Given the description of an element on the screen output the (x, y) to click on. 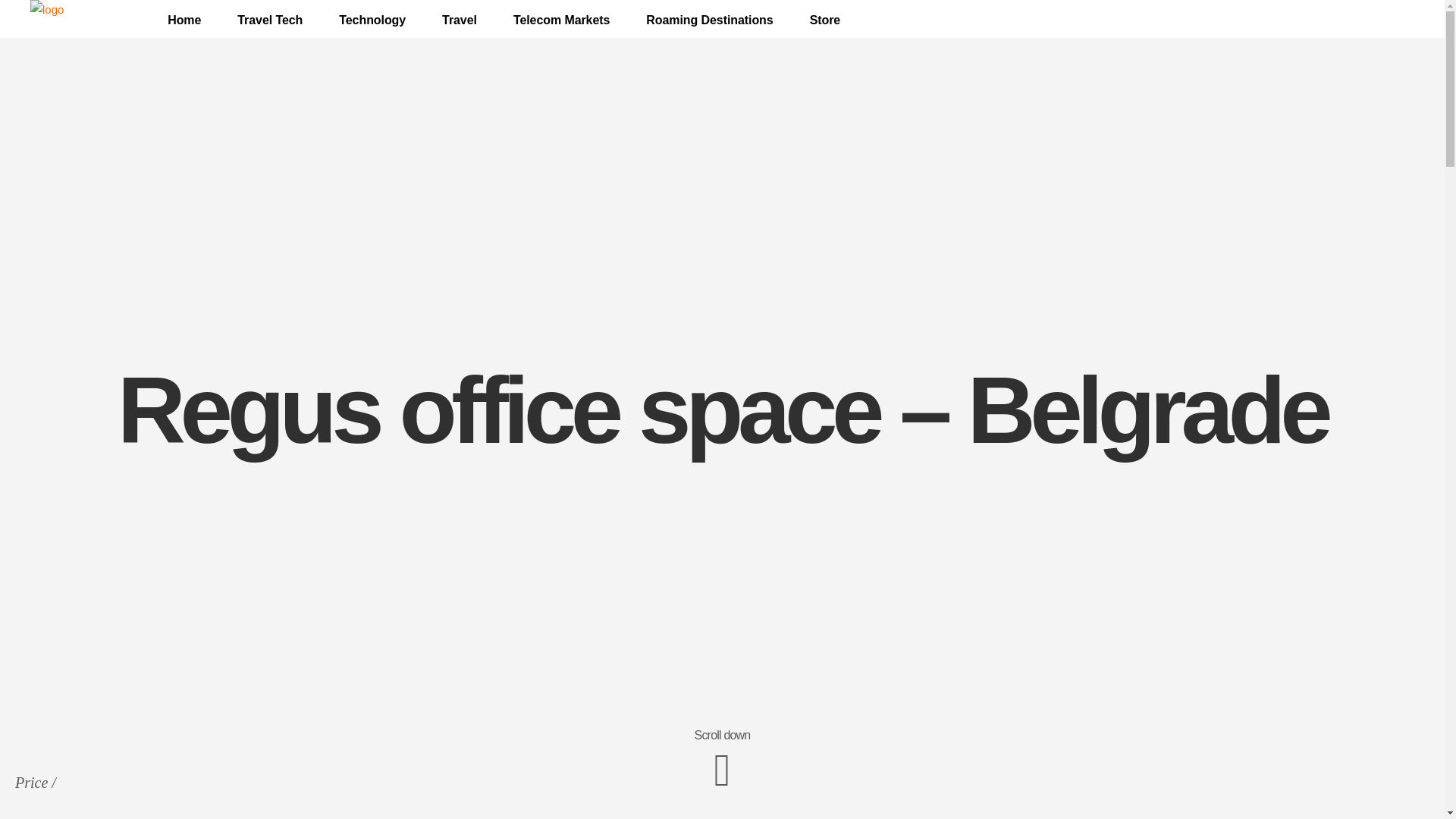
Travel (459, 19)
Roaming Destinations (708, 19)
Telecom Markets (561, 19)
Scroll down (721, 734)
Scroll down (721, 759)
Store (825, 19)
Home (184, 19)
Technology (371, 19)
Travel Tech (269, 19)
